Given the description of an element on the screen output the (x, y) to click on. 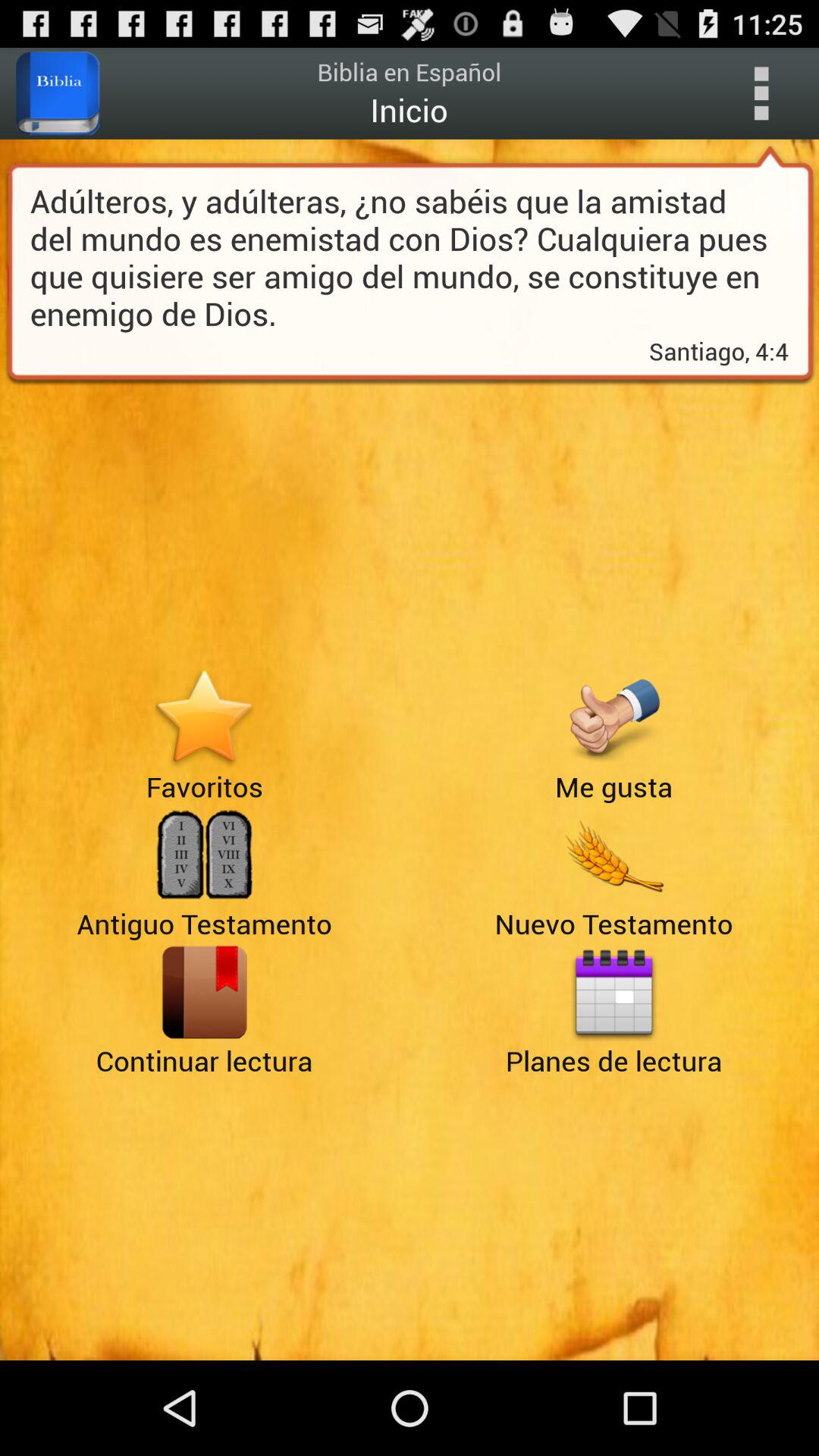
tap app next to nuevo testamento icon (204, 991)
